Given the description of an element on the screen output the (x, y) to click on. 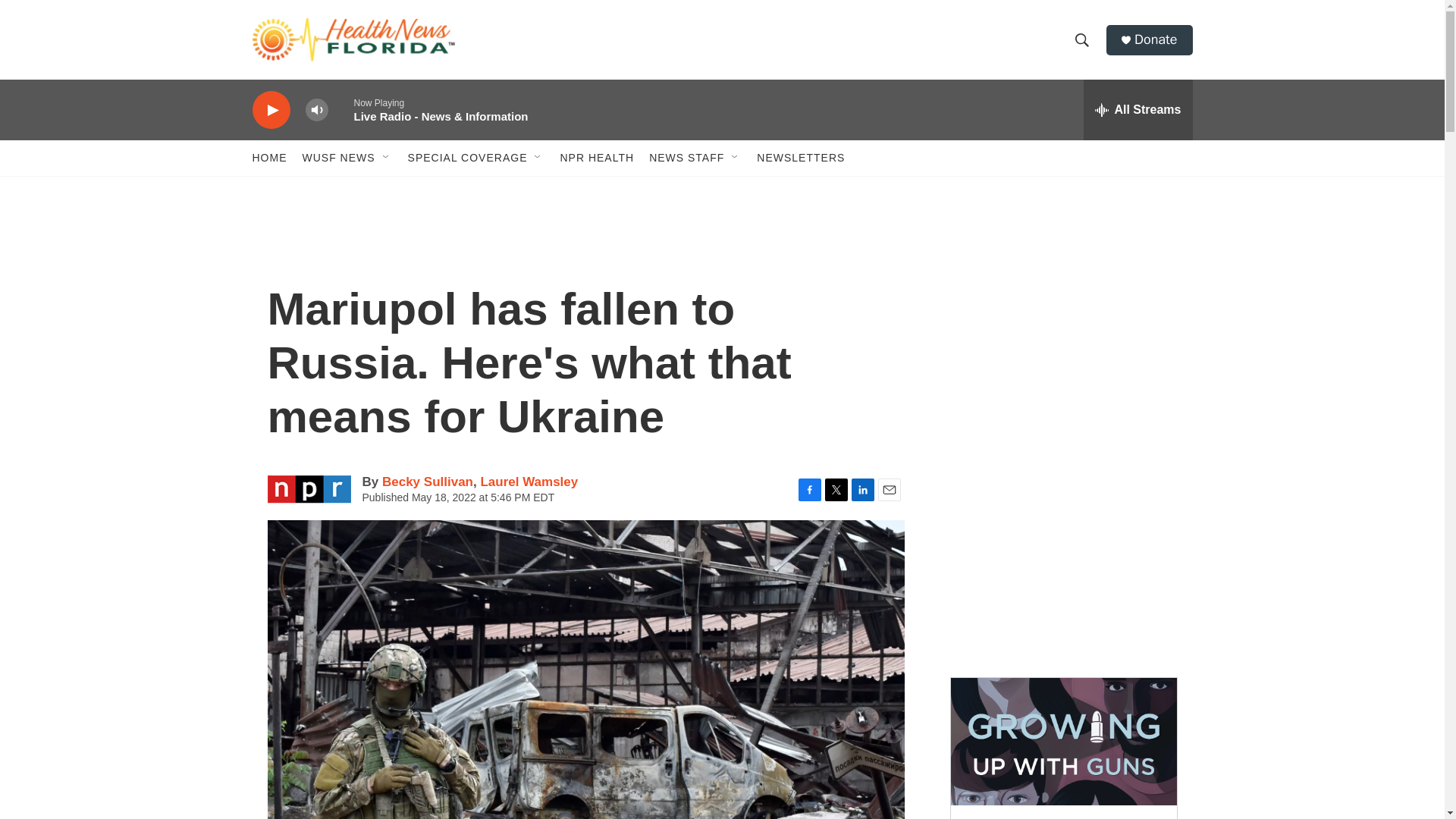
3rd party ad content (1062, 552)
3rd party ad content (1062, 331)
